Given the description of an element on the screen output the (x, y) to click on. 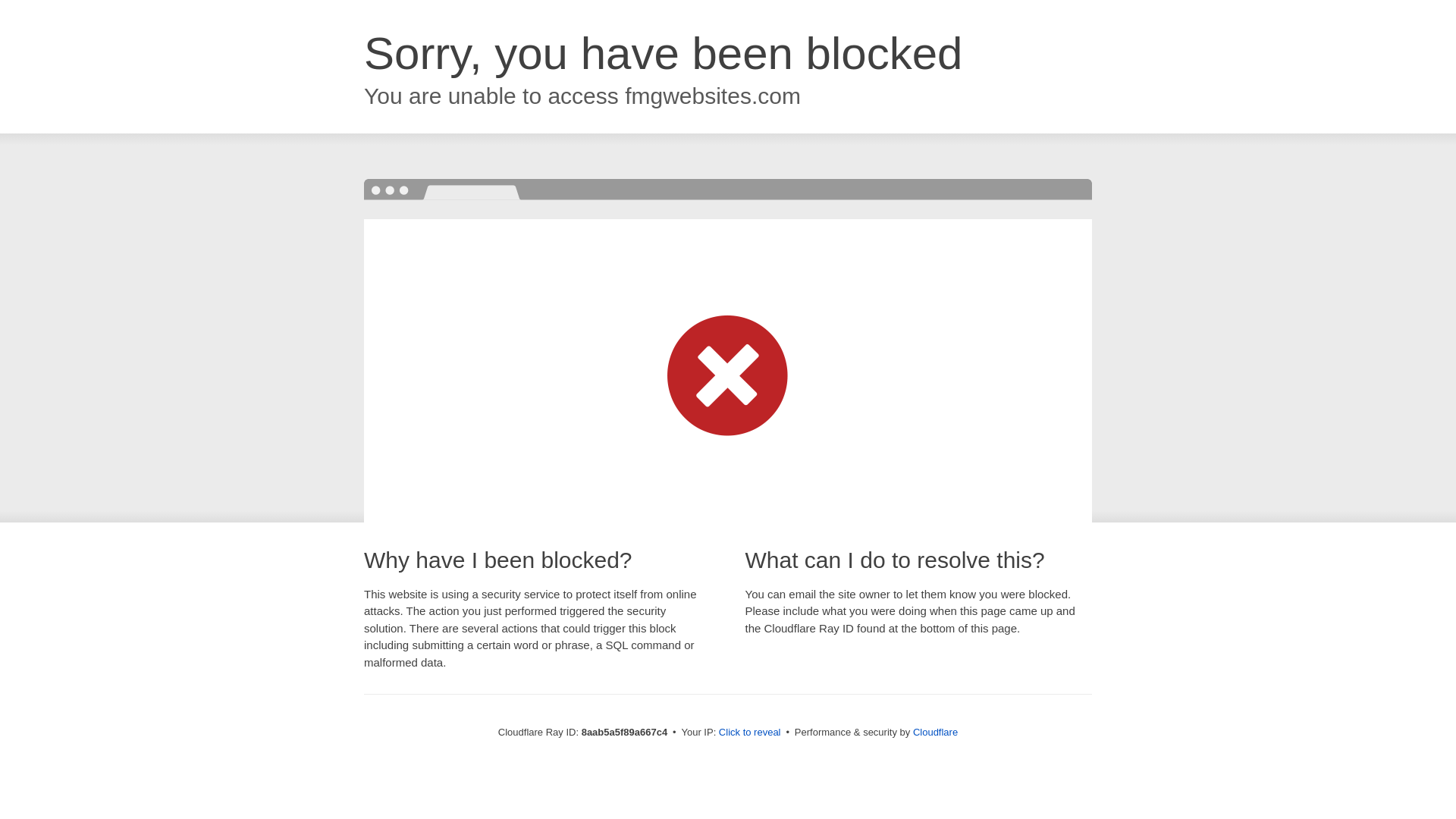
Click to reveal (749, 732)
Cloudflare (935, 731)
